Given the description of an element on the screen output the (x, y) to click on. 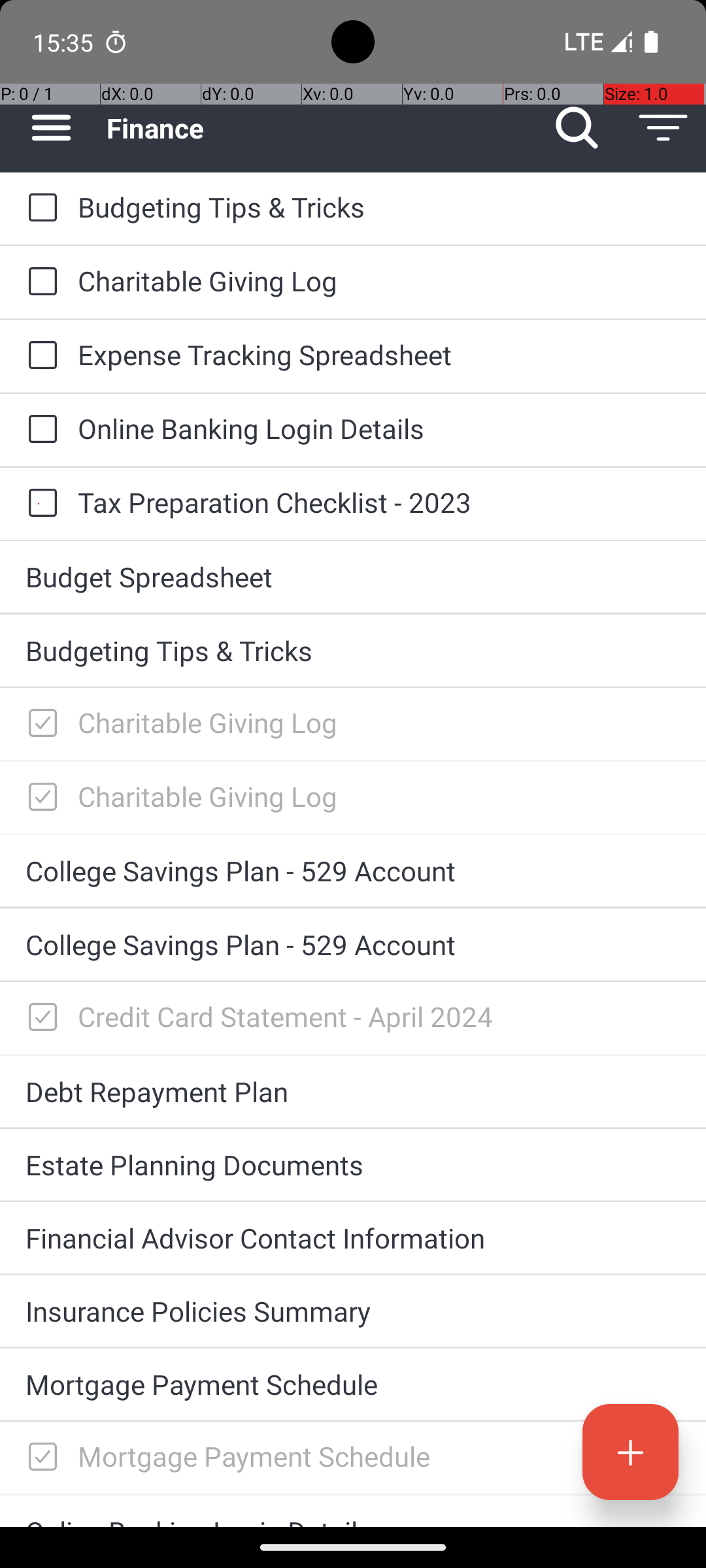
to-do: Budgeting Tips & Tricks Element type: android.widget.CheckBox (38, 208)
Budgeting Tips & Tricks Element type: android.widget.TextView (378, 206)
to-do: Charitable Giving Log Element type: android.widget.CheckBox (38, 282)
Charitable Giving Log Element type: android.widget.TextView (378, 280)
to-do: Expense Tracking Spreadsheet Element type: android.widget.CheckBox (38, 356)
Expense Tracking Spreadsheet Element type: android.widget.TextView (378, 354)
to-do: Online Banking Login Details Element type: android.widget.CheckBox (38, 429)
Online Banking Login Details Element type: android.widget.TextView (378, 427)
to-do: Tax Preparation Checklist - 2023 Element type: android.widget.CheckBox (38, 503)
Tax Preparation Checklist - 2023 Element type: android.widget.TextView (378, 501)
Budget Spreadsheet Element type: android.widget.TextView (352, 576)
College Savings Plan - 529 Account Element type: android.widget.TextView (352, 870)
to-do: Credit Card Statement - April 2024 Element type: android.widget.CheckBox (38, 1017)
Credit Card Statement - April 2024 Element type: android.widget.TextView (378, 1015)
Debt Repayment Plan Element type: android.widget.TextView (352, 1091)
Estate Planning Documents Element type: android.widget.TextView (352, 1164)
Insurance Policies Summary Element type: android.widget.TextView (352, 1310)
Mortgage Payment Schedule Element type: android.widget.TextView (352, 1383)
to-do: Mortgage Payment Schedule Element type: android.widget.CheckBox (38, 1457)
